Given the description of an element on the screen output the (x, y) to click on. 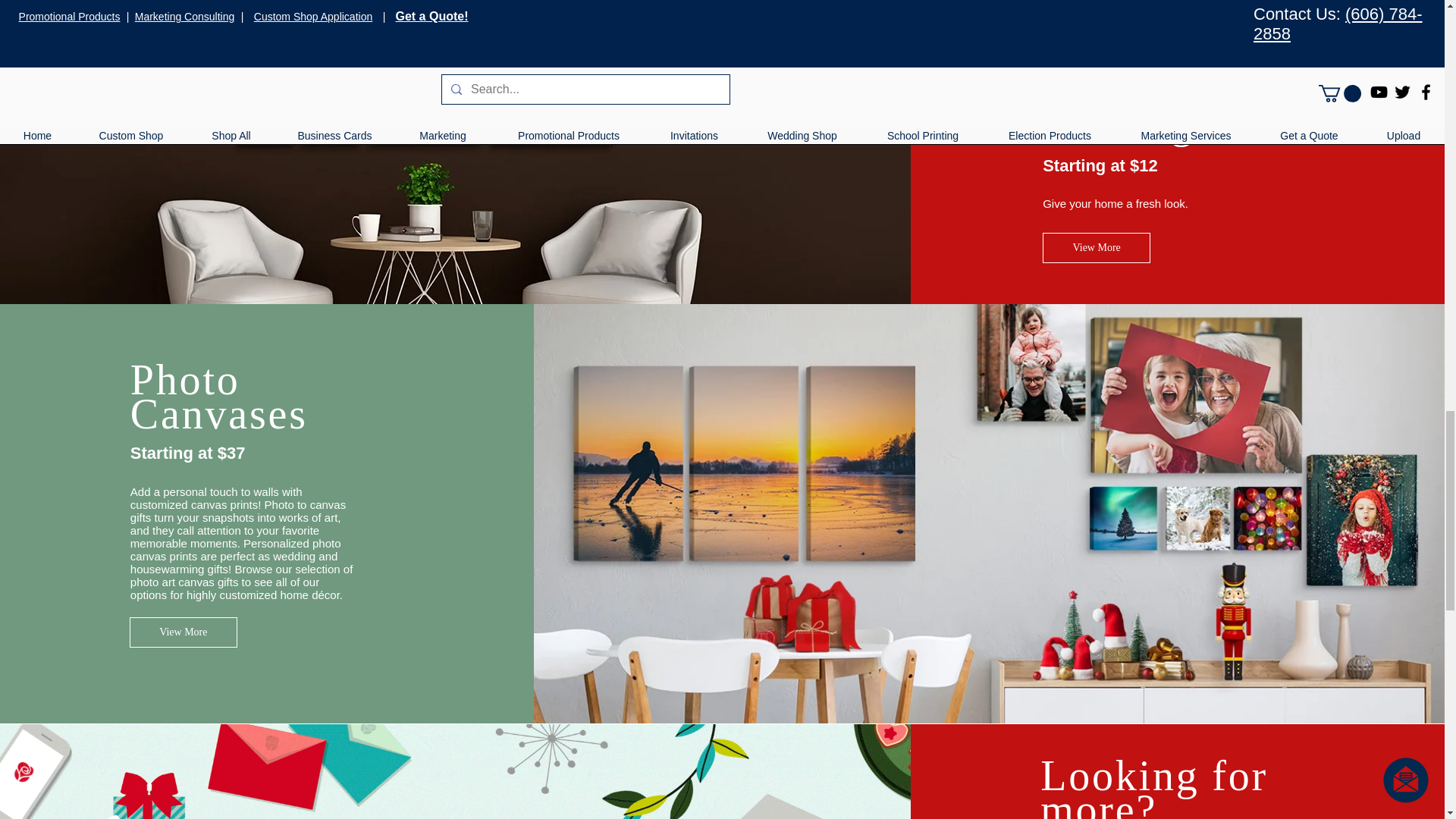
View More (1096, 247)
View More (183, 632)
